Given the description of an element on the screen output the (x, y) to click on. 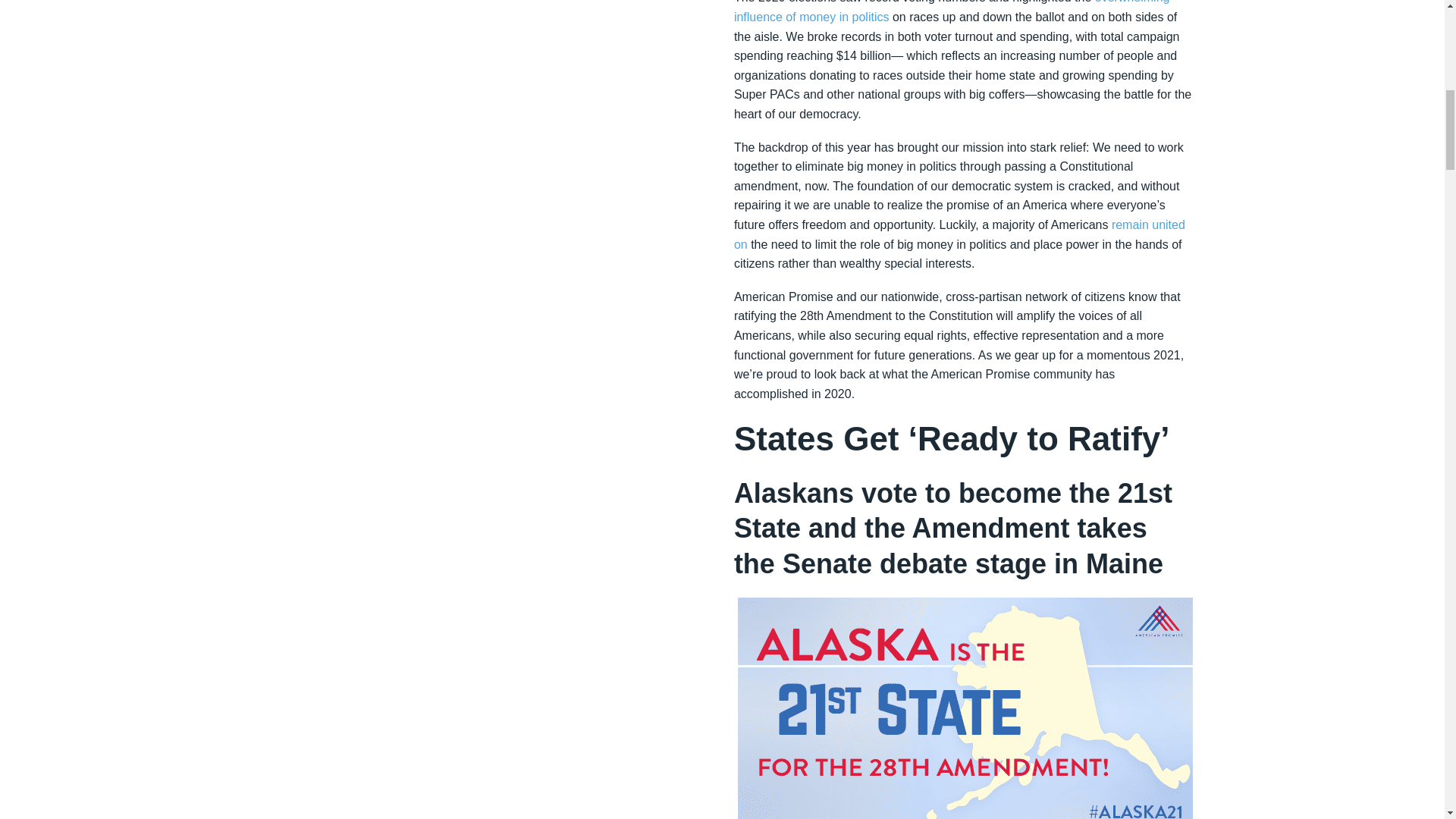
overwhelming influence of money in politics (951, 11)
